Given the description of an element on the screen output the (x, y) to click on. 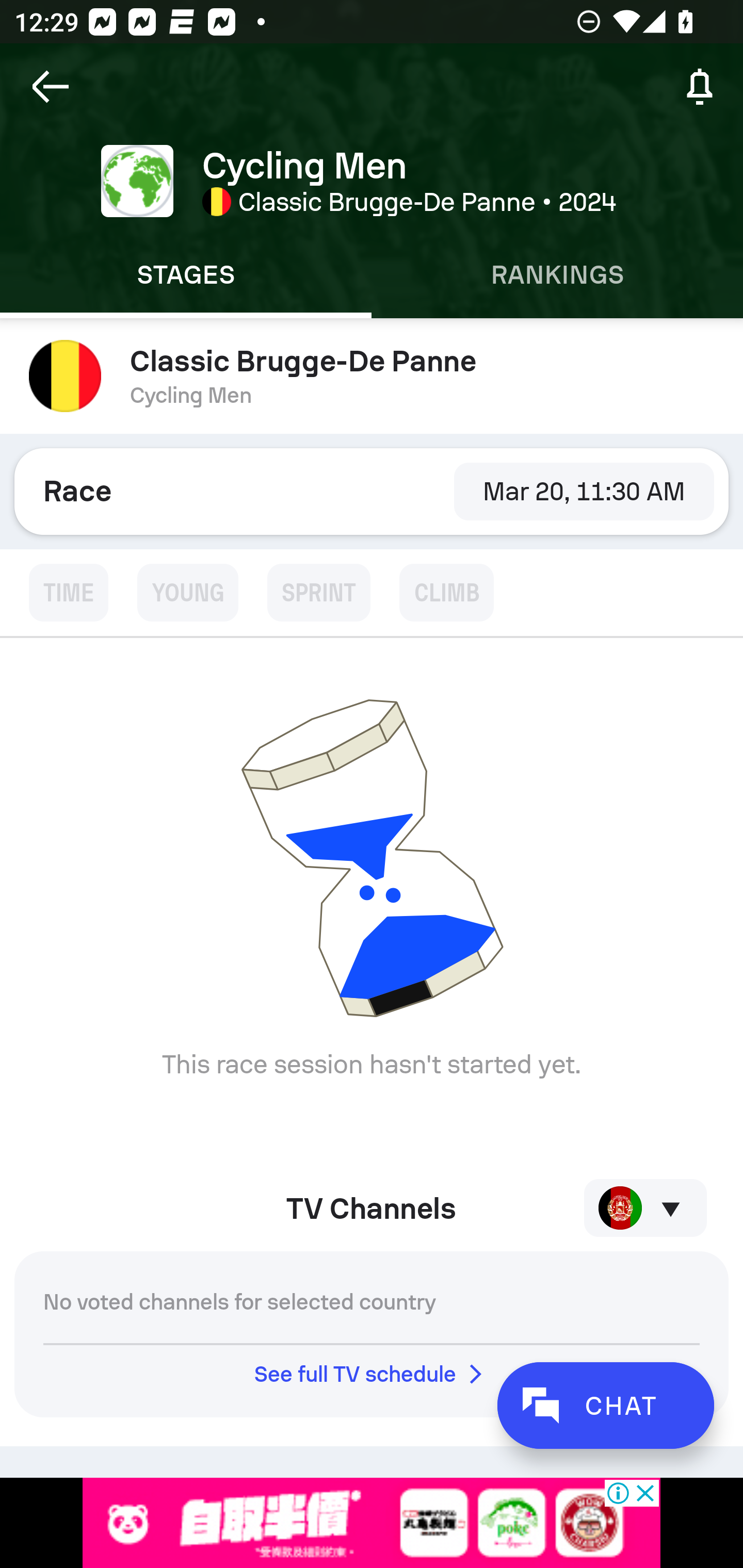
Navigate up (50, 86)
Rankings RANKINGS (557, 275)
Race Mar 20, 11:30 AM (371, 491)
Mar 20, 11:30 AM (583, 491)
See full TV schedule (371, 1374)
CHAT (605, 1405)
Advertisement (371, 1522)
